Given the description of an element on the screen output the (x, y) to click on. 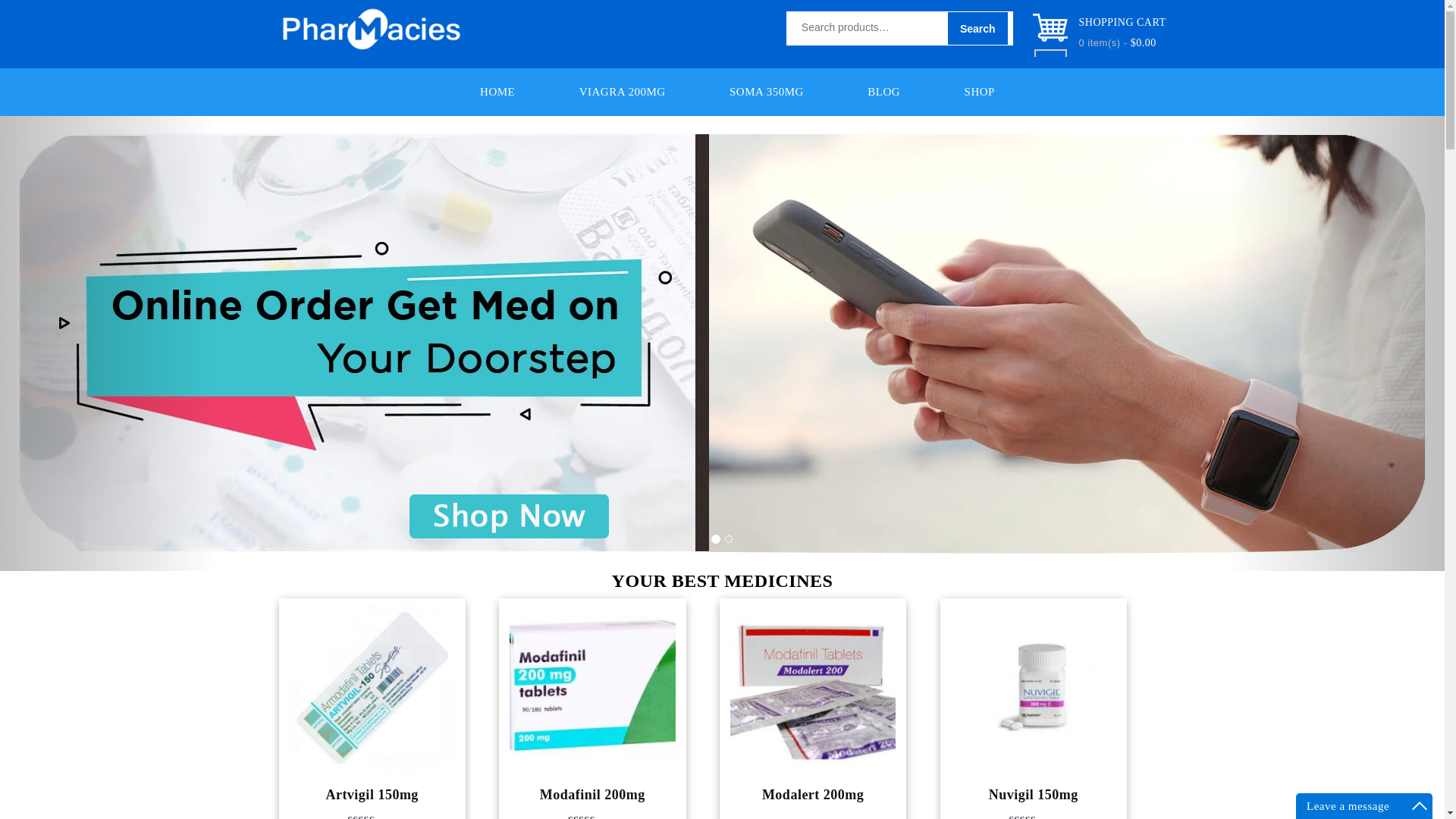
BLOG (883, 91)
Search (978, 28)
HOME (496, 91)
SOMA 350MG (766, 91)
VIAGRA 200MG (621, 91)
SHOP (979, 91)
Maximize (1419, 805)
